Given the description of an element on the screen output the (x, y) to click on. 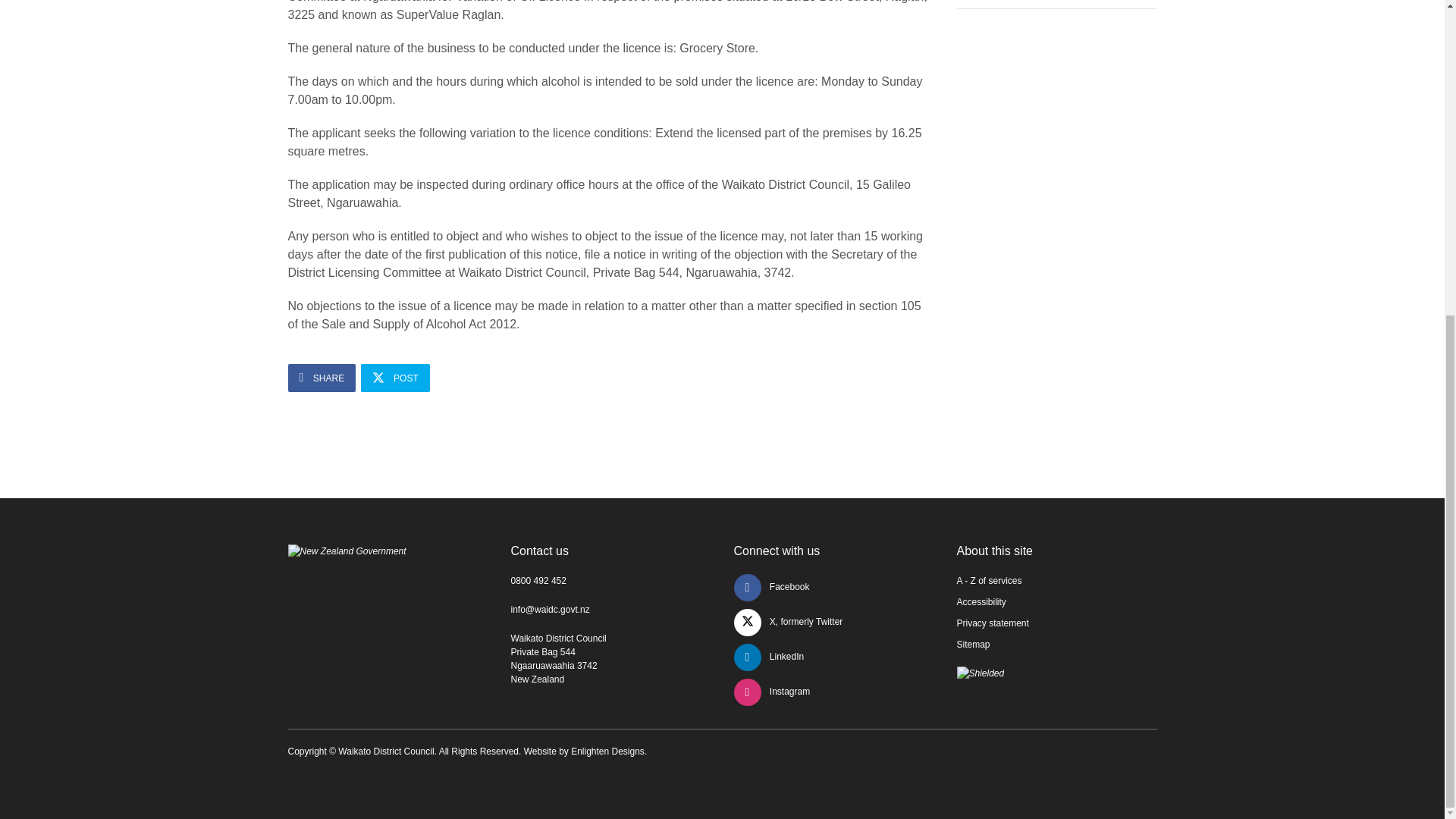
Instagram (771, 691)
About this site (994, 550)
Instagram (771, 691)
0800 492 452 (538, 580)
X, formerly Twitter (788, 621)
Accessibility (981, 602)
Facebook (771, 586)
A - Z of services (989, 580)
LinkedIn (769, 656)
Privacy statement (992, 623)
